Given the description of an element on the screen output the (x, y) to click on. 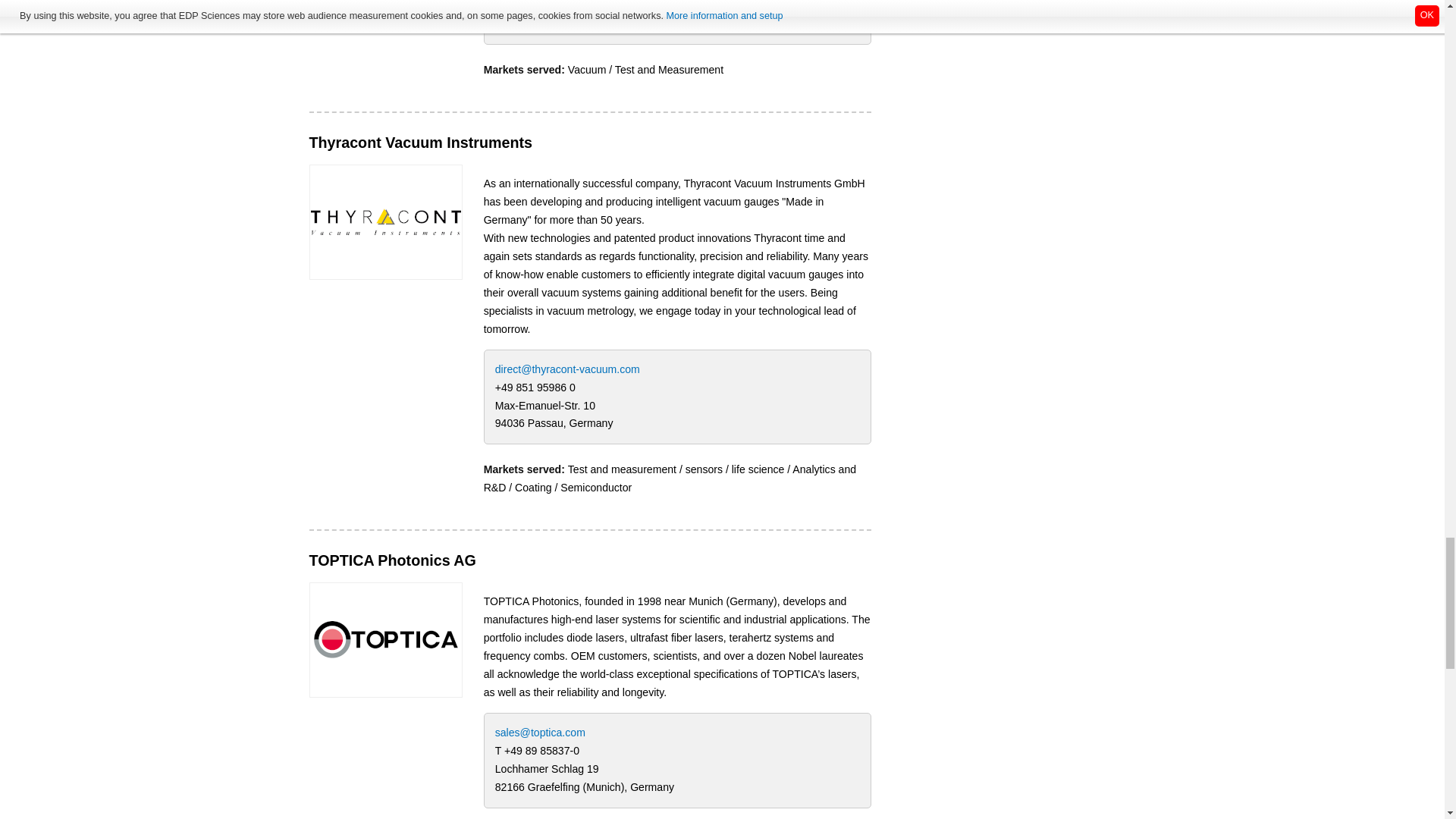
Access the website (385, 221)
Access the website (385, 639)
